Given the description of an element on the screen output the (x, y) to click on. 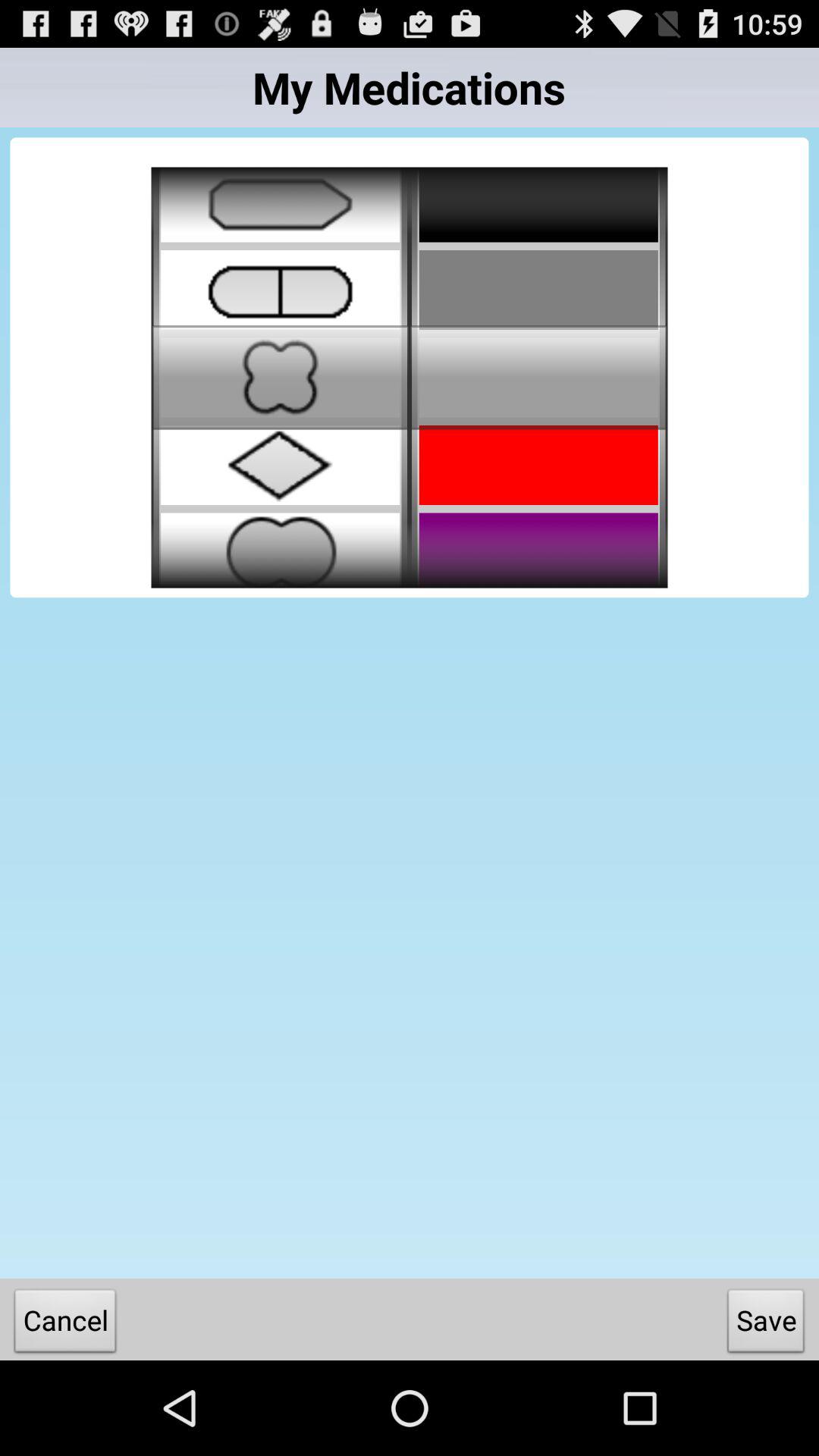
jump until the save button (765, 1324)
